Given the description of an element on the screen output the (x, y) to click on. 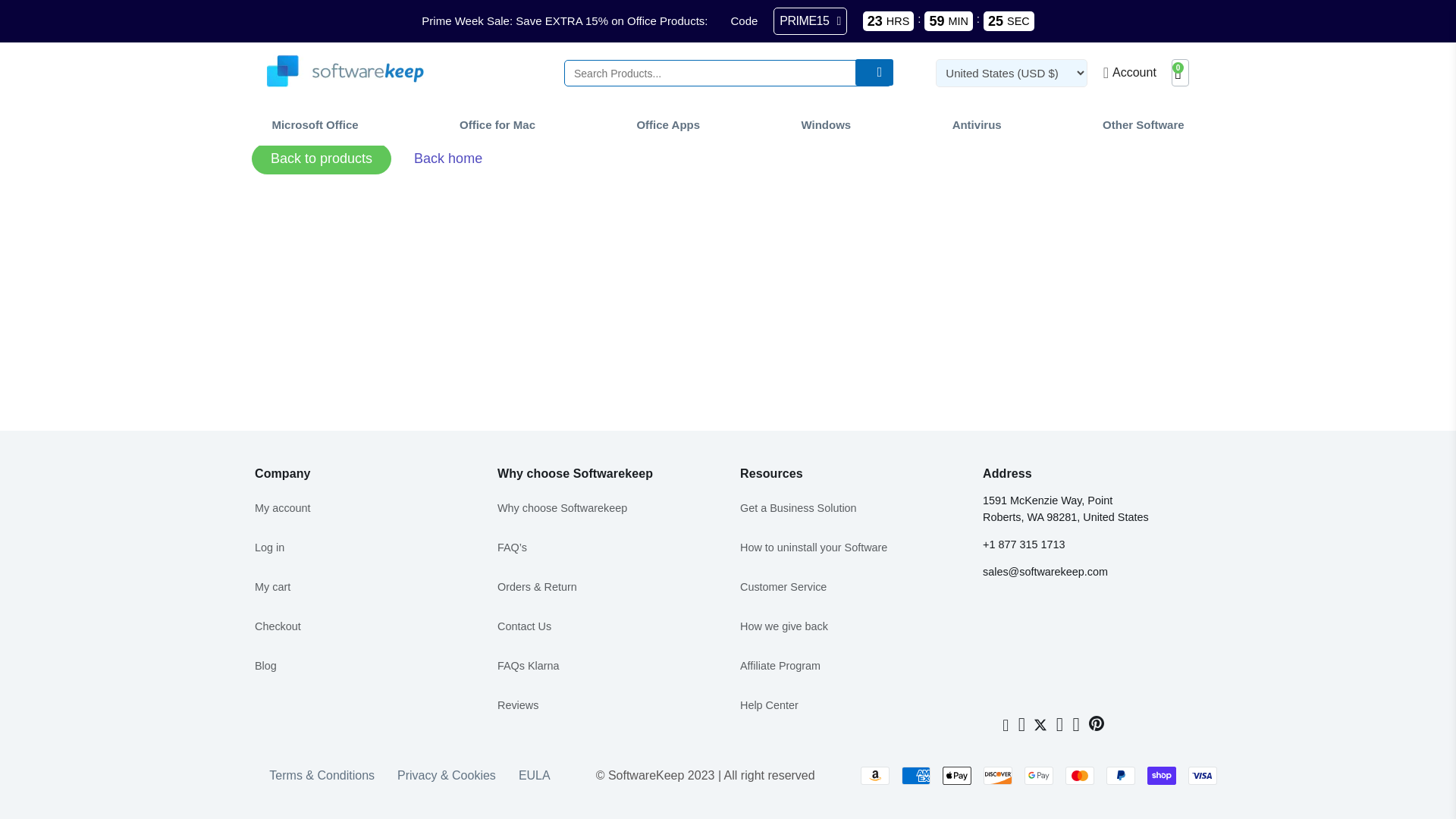
Microsoft Office (314, 124)
Account (1129, 72)
